Given the description of an element on the screen output the (x, y) to click on. 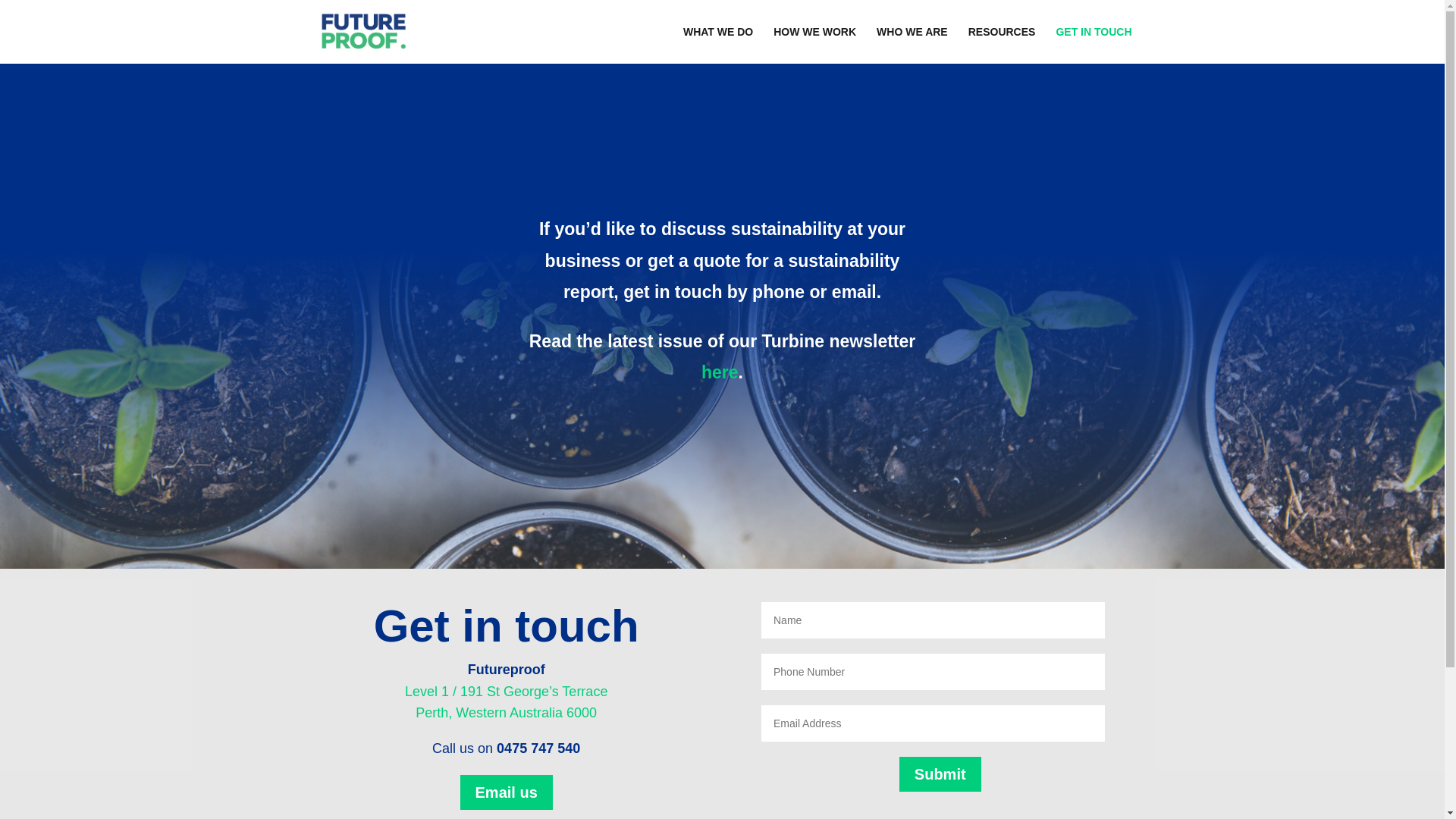
Perth, Western Australia 6000 Element type: text (505, 712)
Email us Element type: text (506, 792)
here Element type: text (719, 372)
RESOURCES Element type: text (1001, 44)
WHAT WE DO Element type: text (718, 44)
WHO WE ARE Element type: text (911, 44)
GET IN TOUCH Element type: text (1093, 44)
Submit Element type: text (940, 773)
HOW WE WORK Element type: text (814, 44)
